Given the description of an element on the screen output the (x, y) to click on. 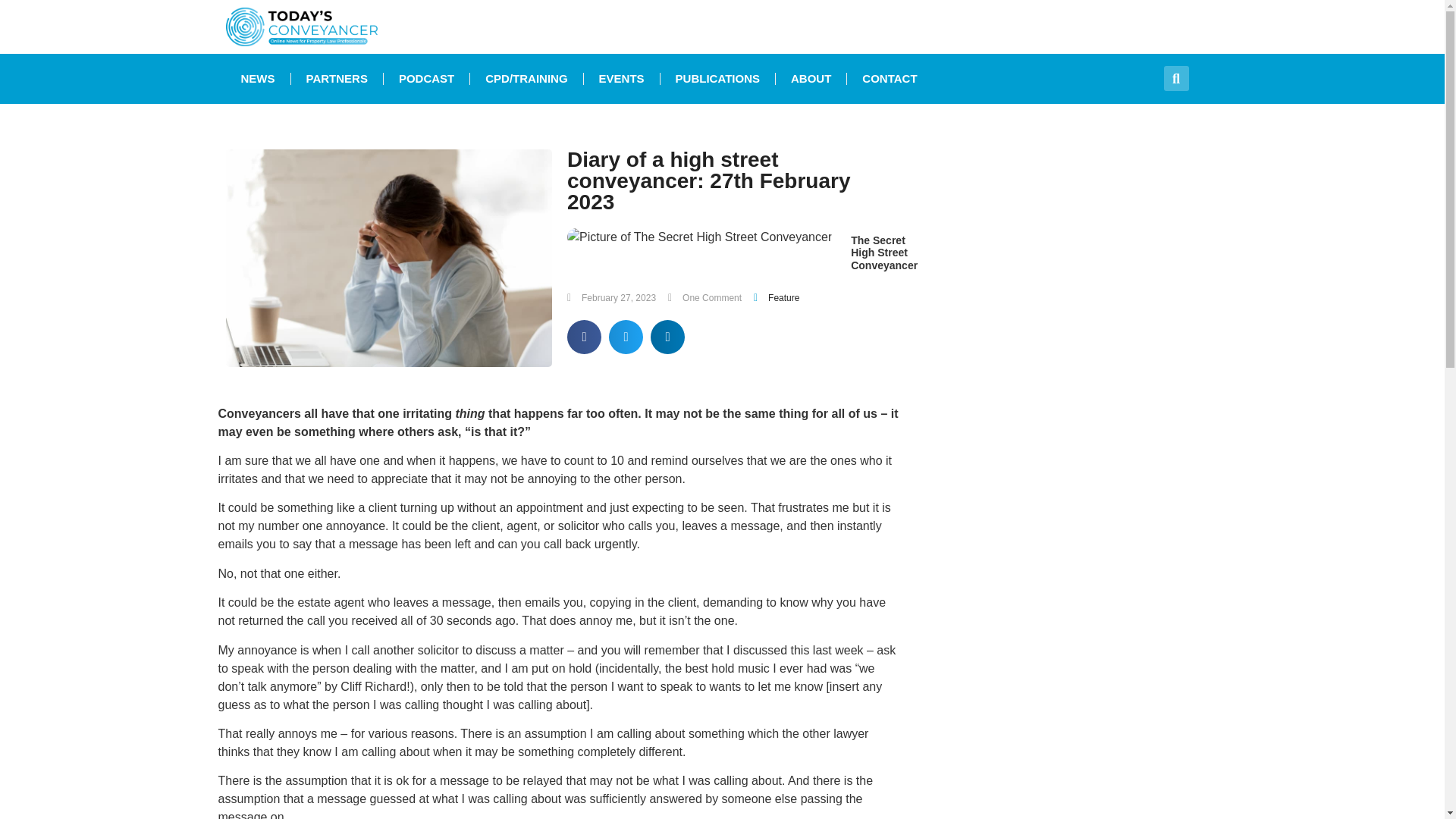
PARTNERS (336, 78)
PUBLICATIONS (717, 78)
PODCAST (426, 78)
CONTACT (889, 78)
NEWS (257, 78)
EVENTS (621, 78)
ABOUT (810, 78)
